Given the description of an element on the screen output the (x, y) to click on. 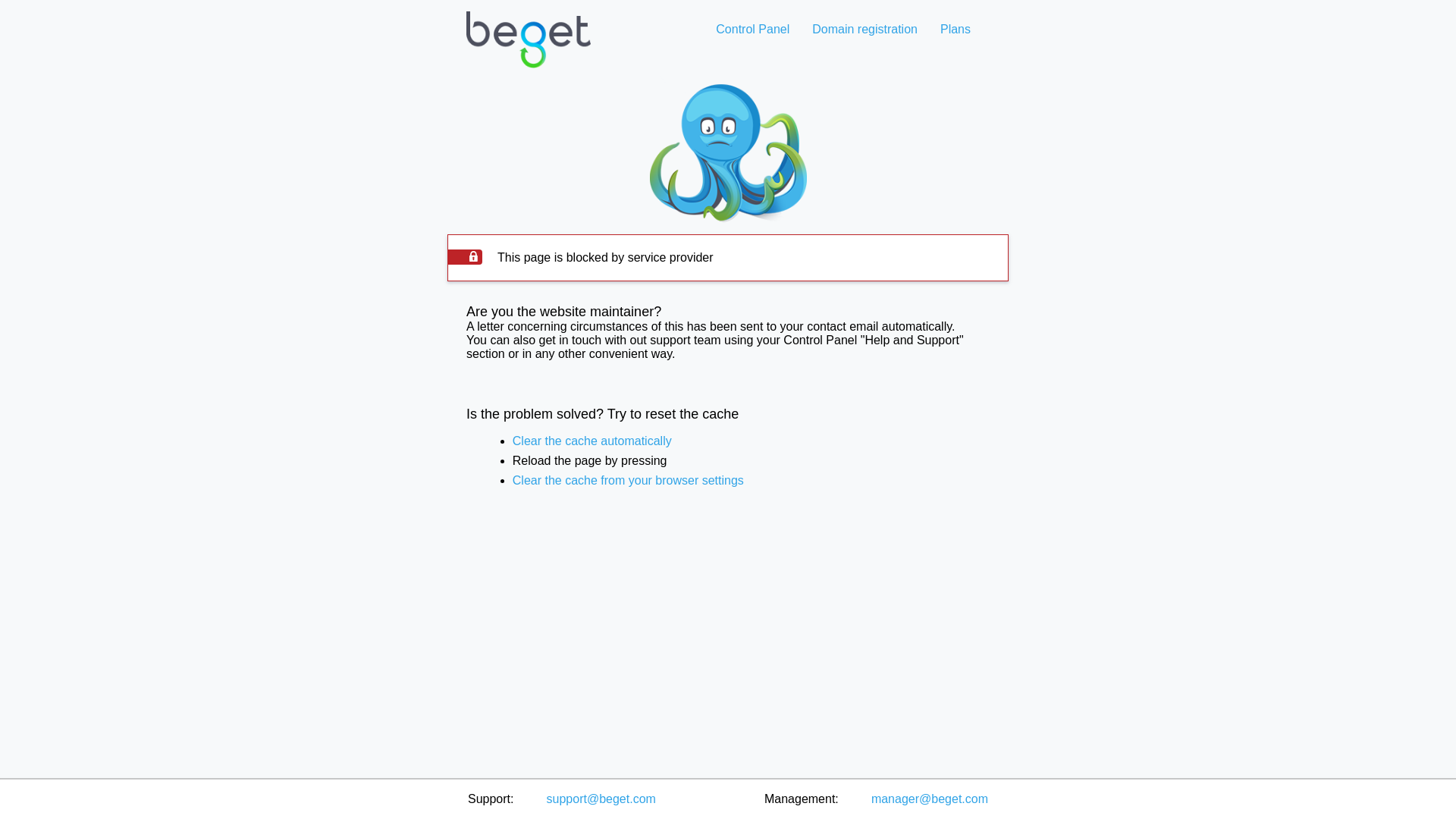
Clear the cache from your browser settings (628, 480)
Web hosting home page (528, 51)
Domain registration (864, 29)
Plans (954, 29)
Control Panel (752, 29)
Clear the cache automatically (591, 440)
